Given the description of an element on the screen output the (x, y) to click on. 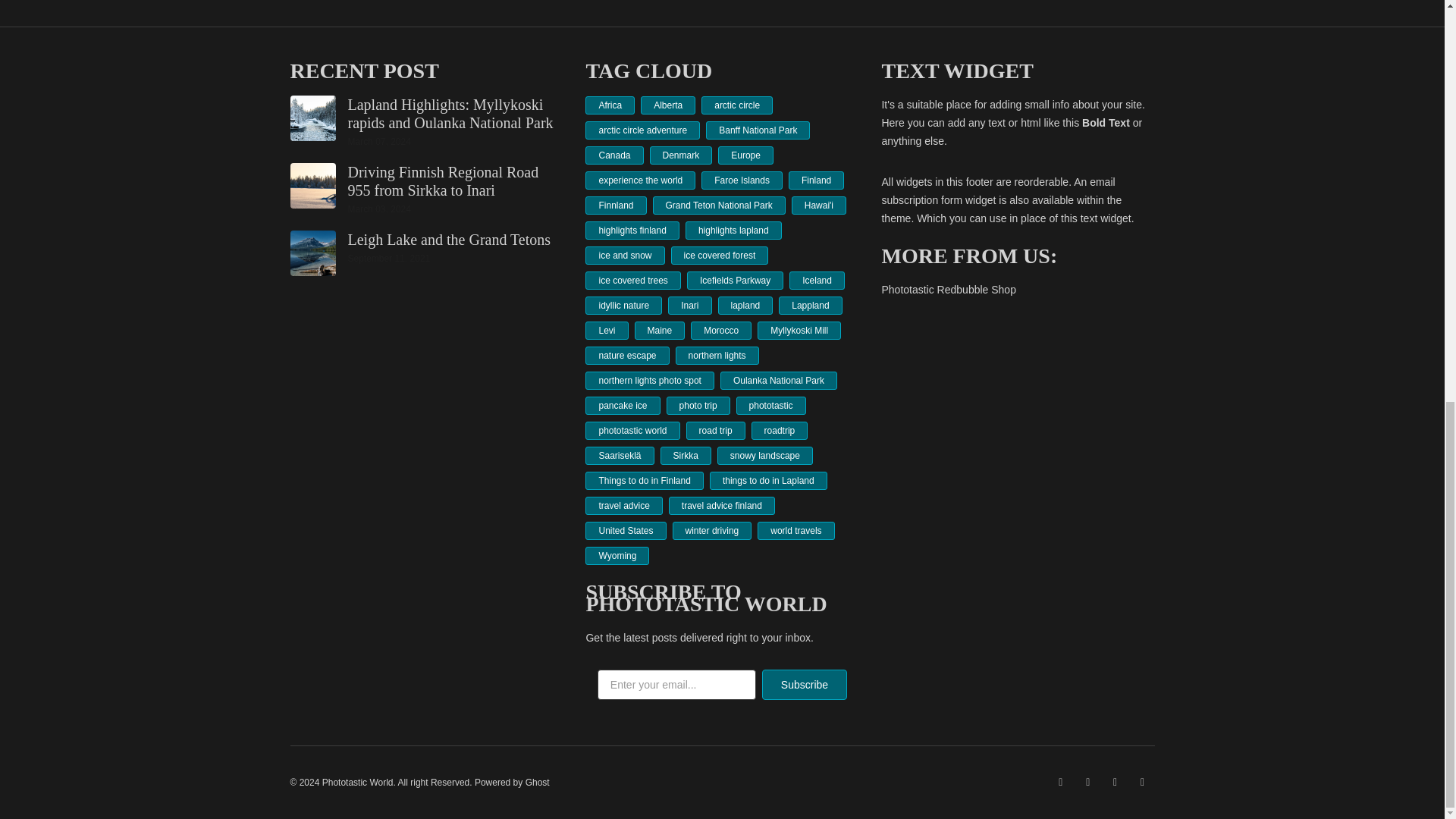
experience the world (640, 180)
Hawai'i (818, 205)
highlights lapland (733, 230)
Denmark (681, 155)
Finnland (615, 205)
Driving Finnish Regional Road 955 from Sirkka to Inari (442, 181)
March 03, 2024 (378, 208)
Canada (614, 155)
Banff National Park (757, 130)
Leigh Lake and the Grand Tetons (448, 239)
Faroe Islands (742, 180)
Alberta (667, 105)
Grand Teton National Park (719, 205)
highlights finland (631, 230)
